Given the description of an element on the screen output the (x, y) to click on. 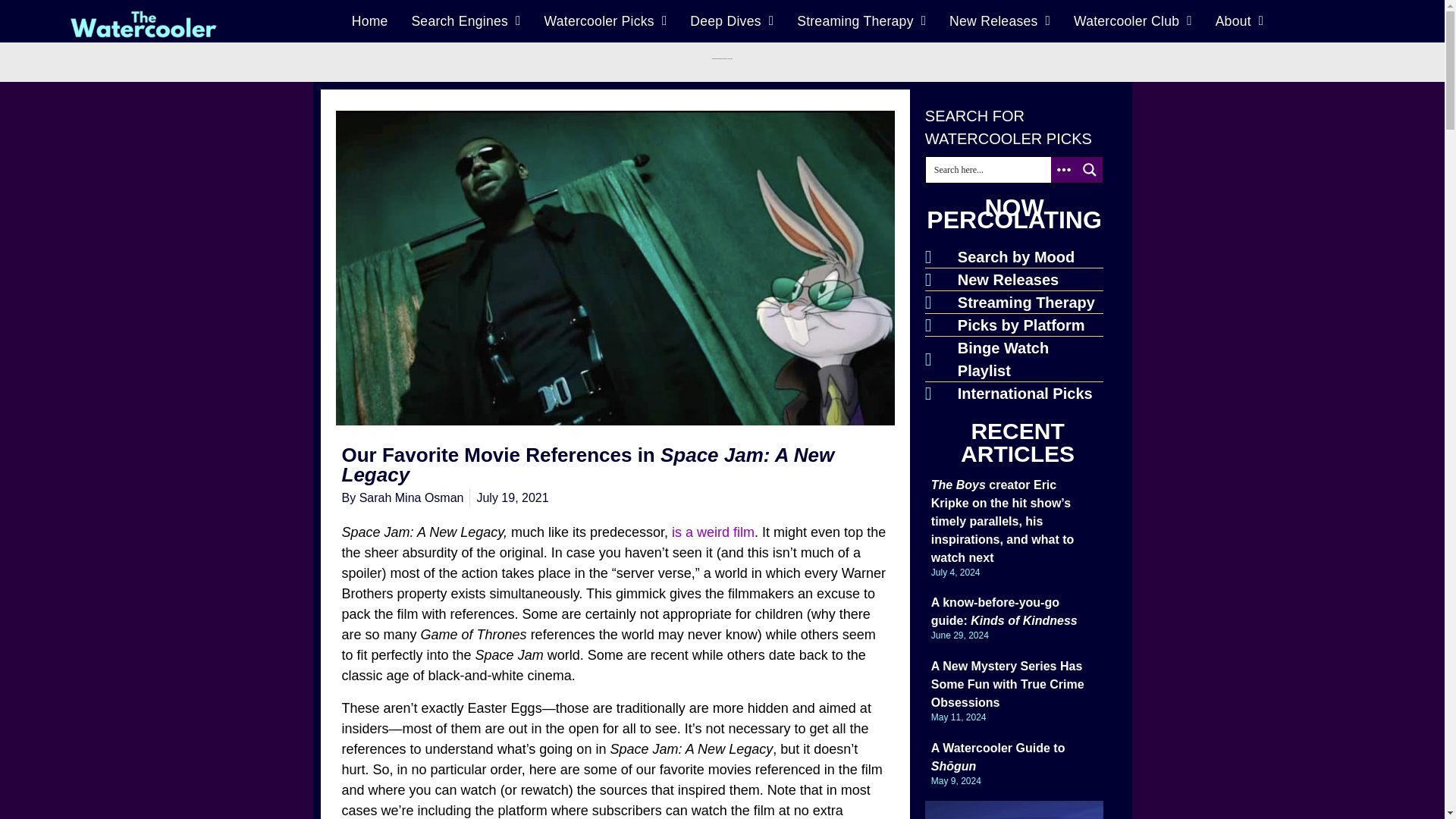
New Releases (999, 21)
Streaming Therapy (861, 21)
Watercooler Picks (605, 21)
Home (368, 21)
Watercooler Club (1133, 21)
logo.png (142, 23)
About (1239, 21)
Search Engines (465, 21)
Deep Dives (732, 21)
